Given the description of an element on the screen output the (x, y) to click on. 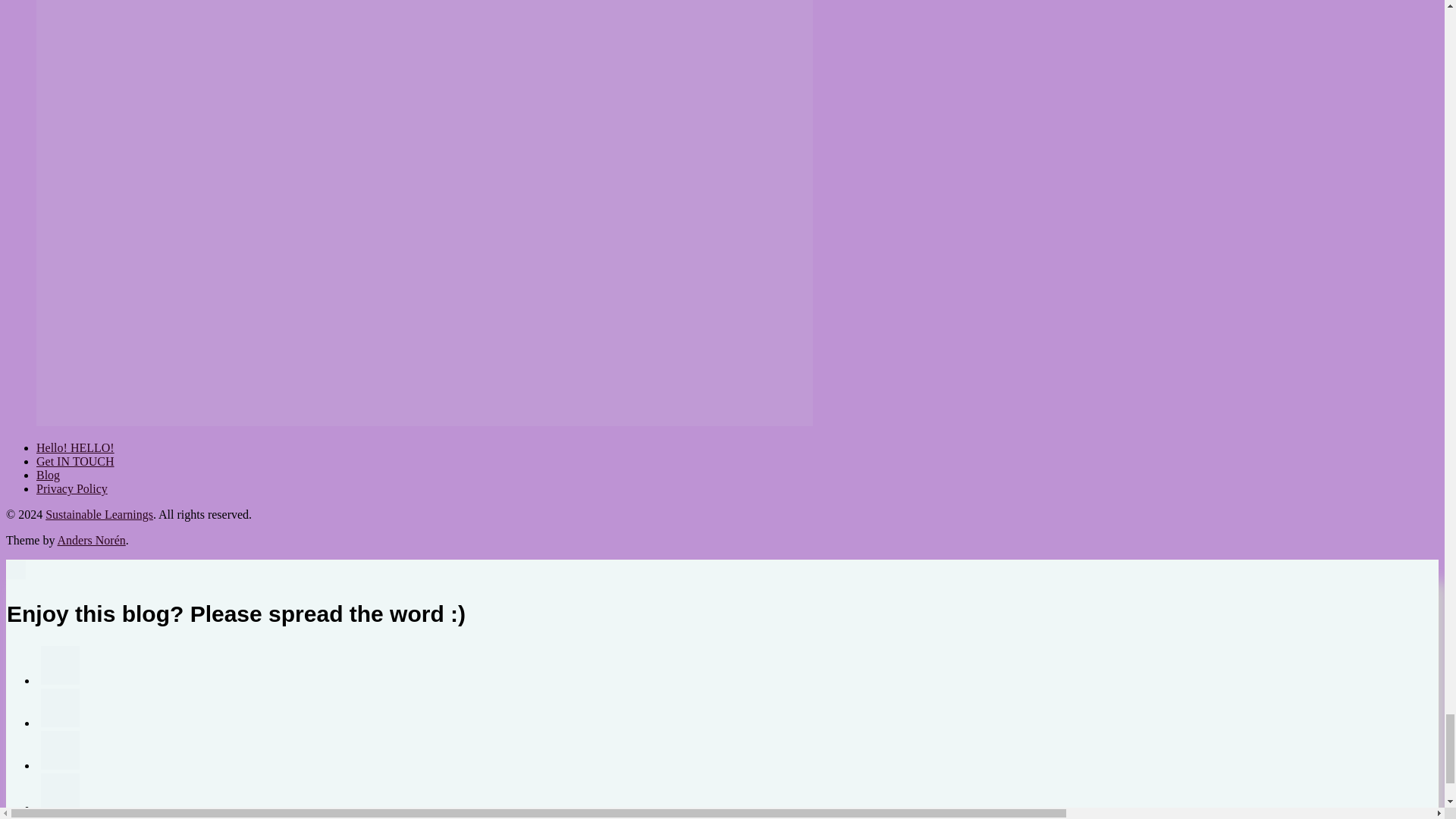
Follow by Email (60, 707)
YouTube (60, 817)
RSS (60, 665)
Facebook (60, 750)
Twitter (60, 792)
